Given the description of an element on the screen output the (x, y) to click on. 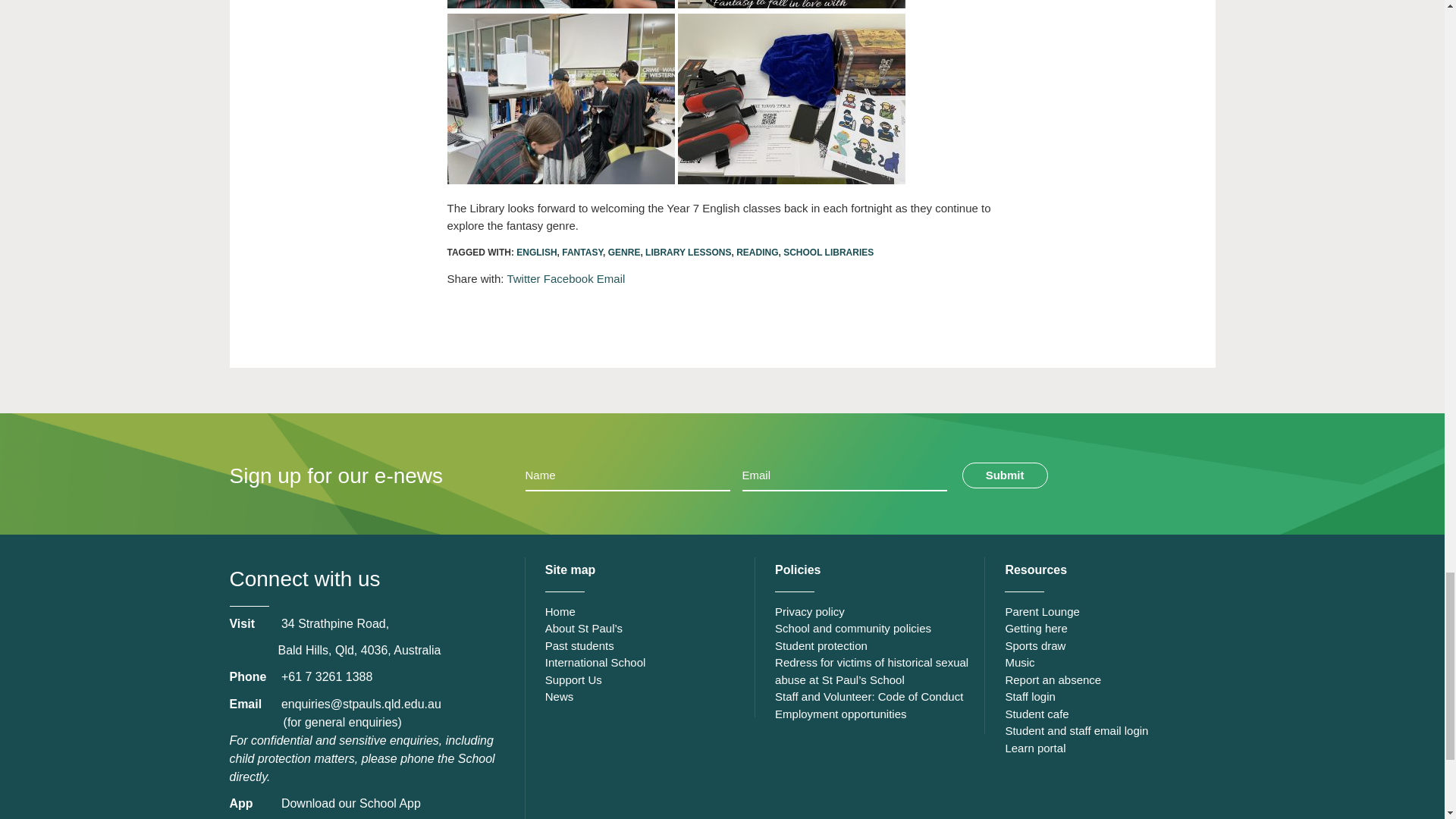
Email (611, 278)
Share on Facebook! (568, 278)
Tweet this! (523, 278)
Submit (1005, 475)
